Given the description of an element on the screen output the (x, y) to click on. 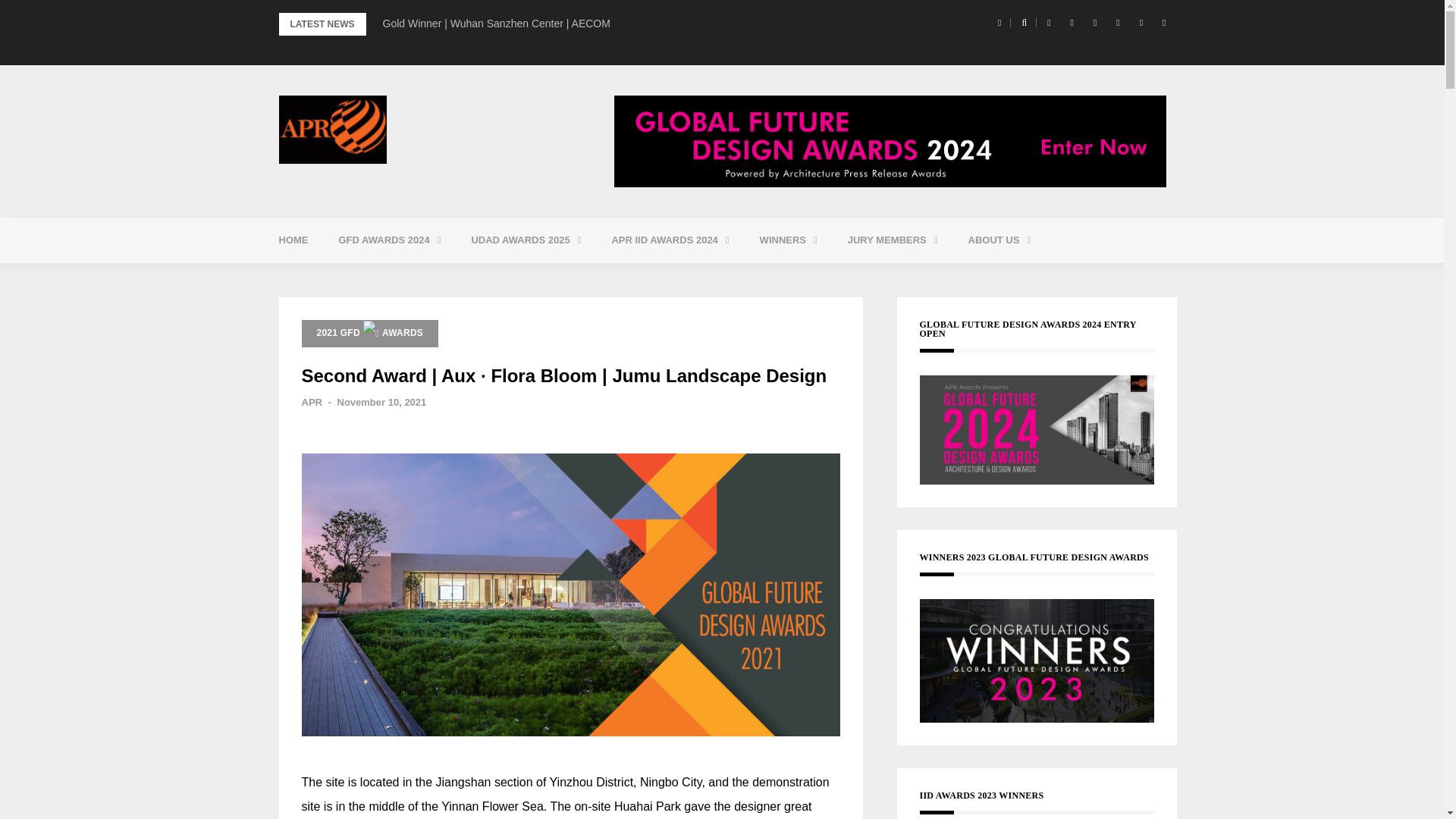
GFD AWARDS 2024 (389, 239)
GFD Awards Brief (425, 277)
Home (293, 239)
HOME (293, 239)
